Given the description of an element on the screen output the (x, y) to click on. 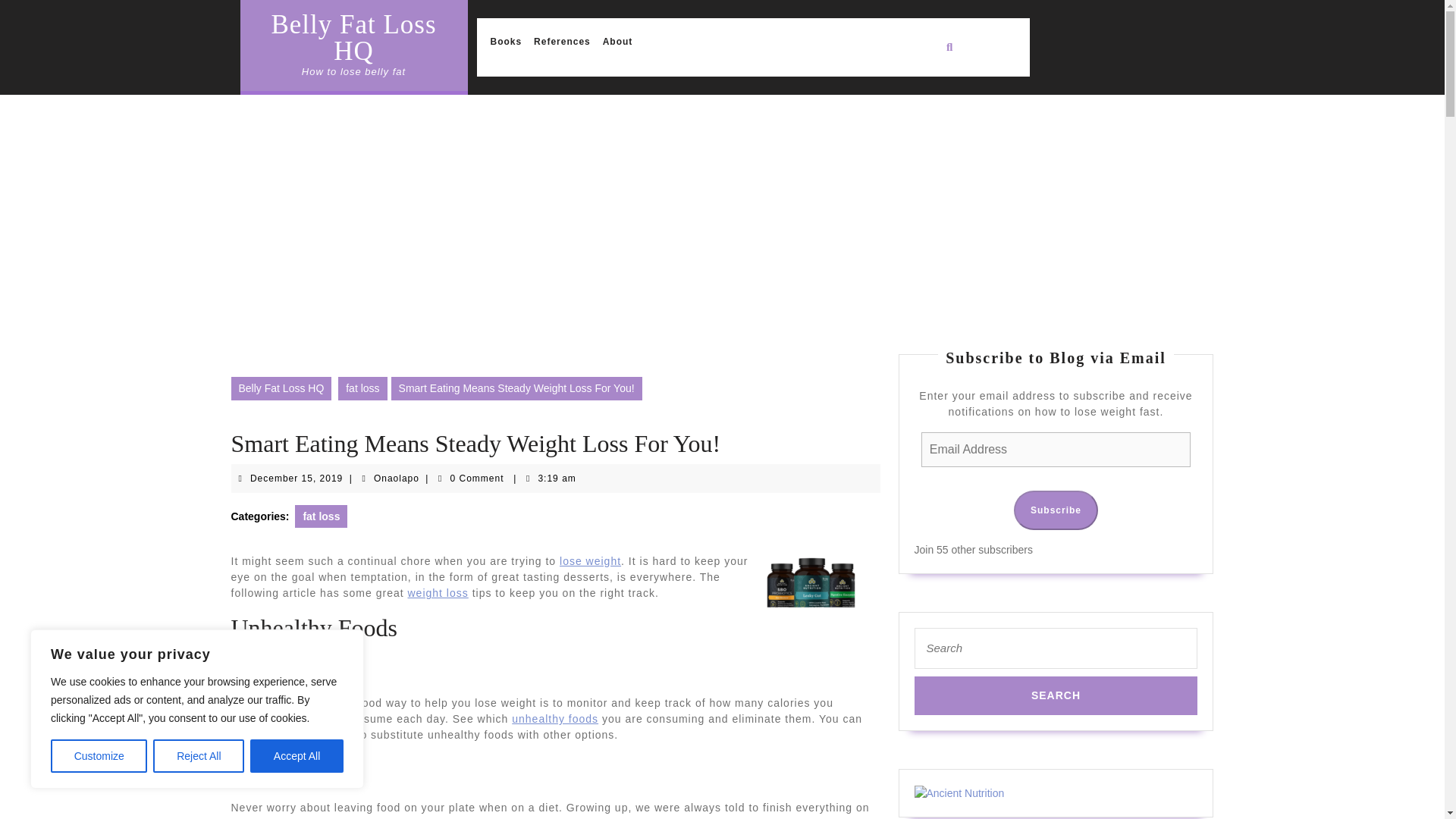
lose weight (590, 561)
Advertisement (296, 478)
unhealthy foods (562, 41)
fat loss (396, 478)
weight loss (555, 718)
fat loss (362, 387)
Search (437, 592)
